Given the description of an element on the screen output the (x, y) to click on. 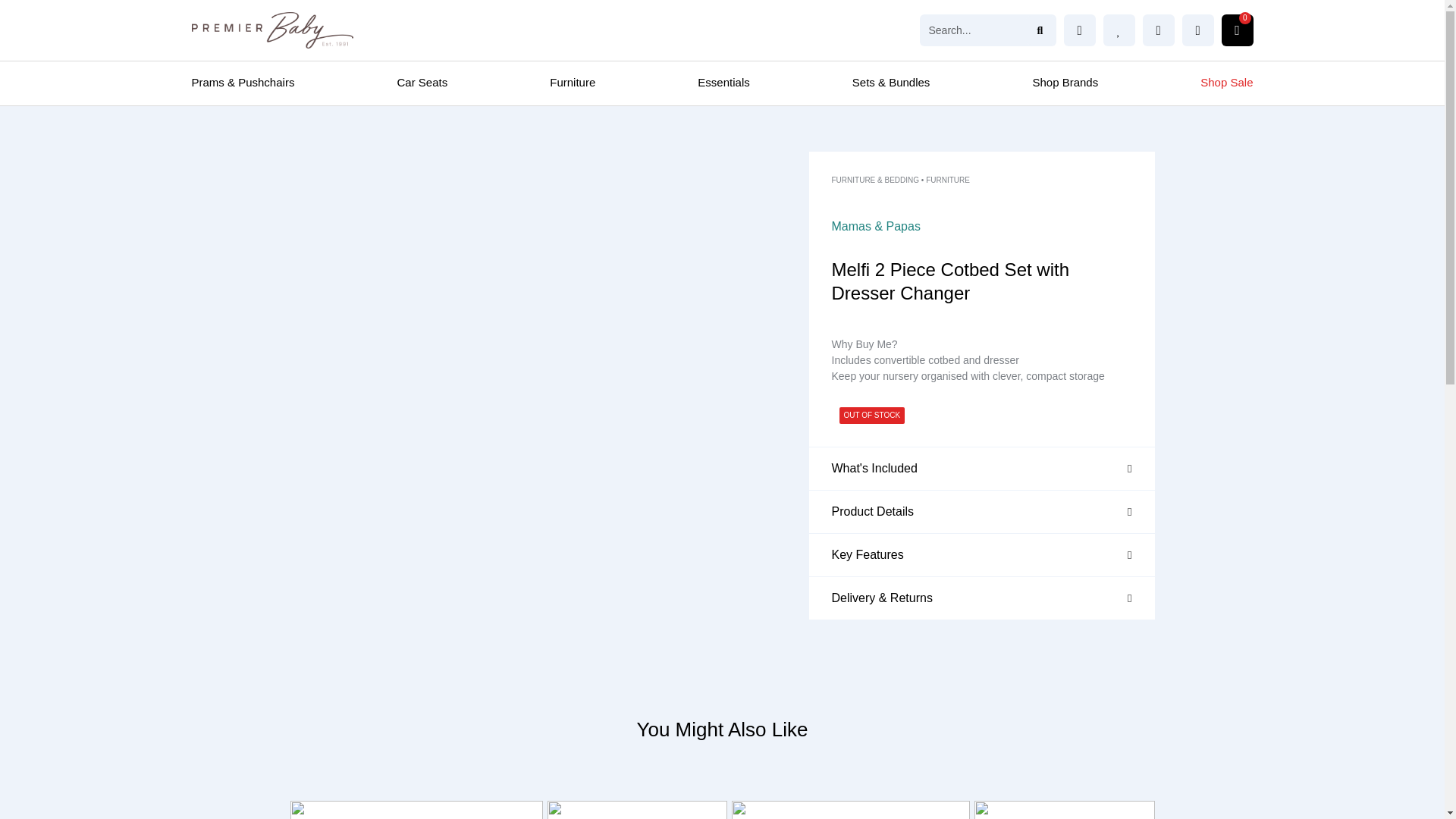
Furniture (572, 82)
0 (1236, 29)
Essentials (723, 82)
Car Seats (421, 82)
